Given the description of an element on the screen output the (x, y) to click on. 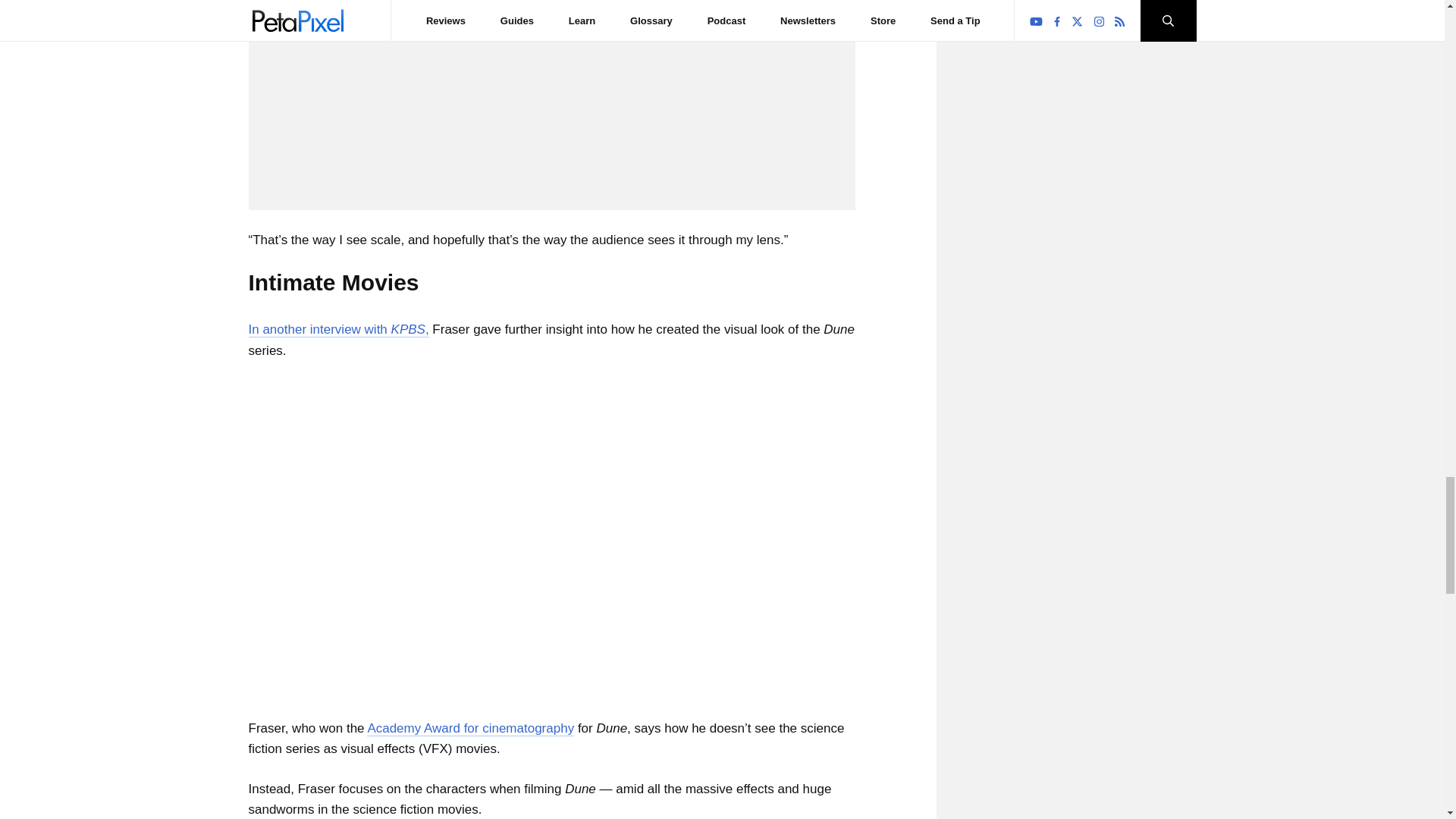
In another interview with KPBS, (338, 329)
Academy Award for cinematography (469, 728)
